Given the description of an element on the screen output the (x, y) to click on. 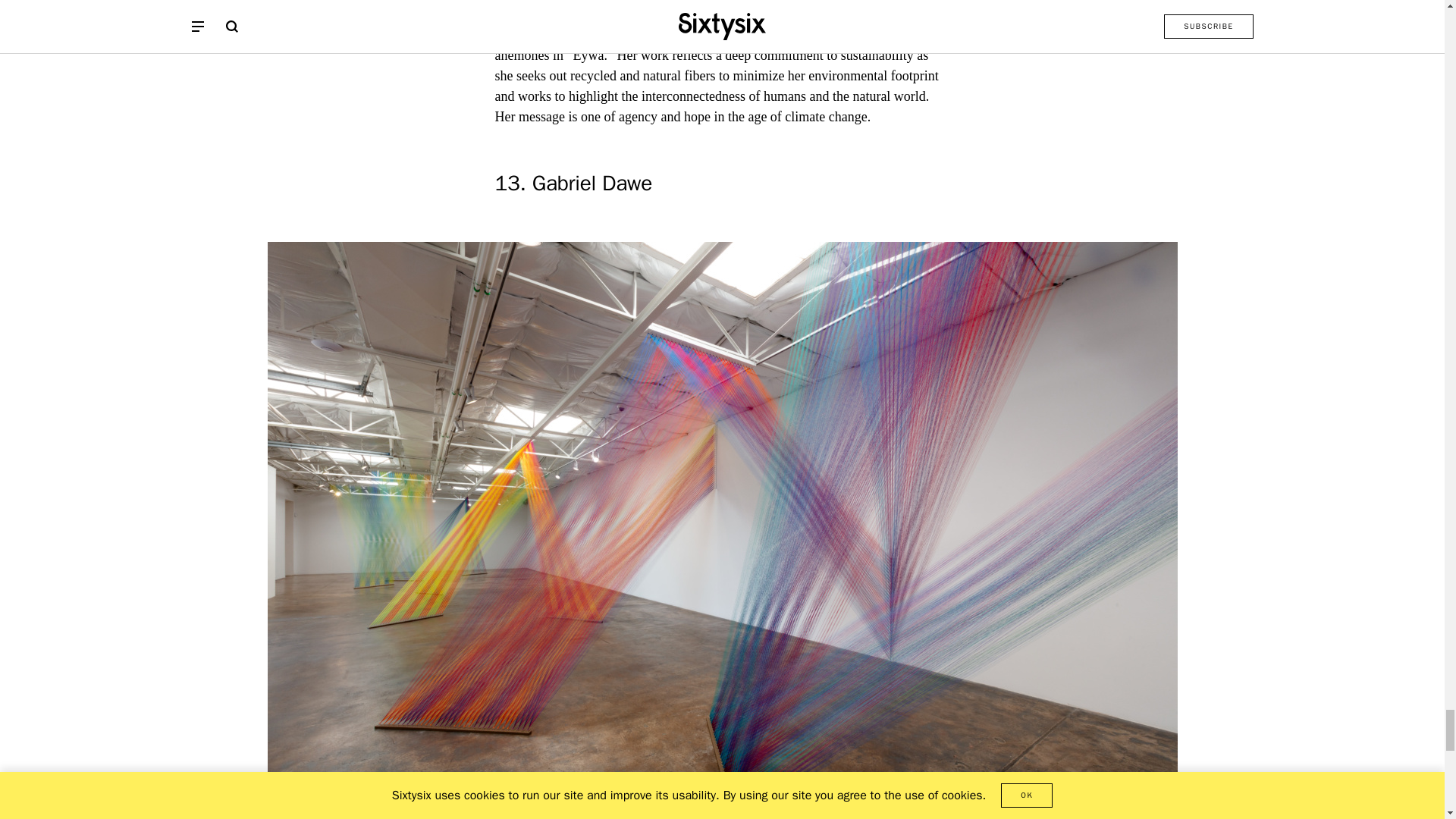
intricate tapestries (778, 14)
